Given the description of an element on the screen output the (x, y) to click on. 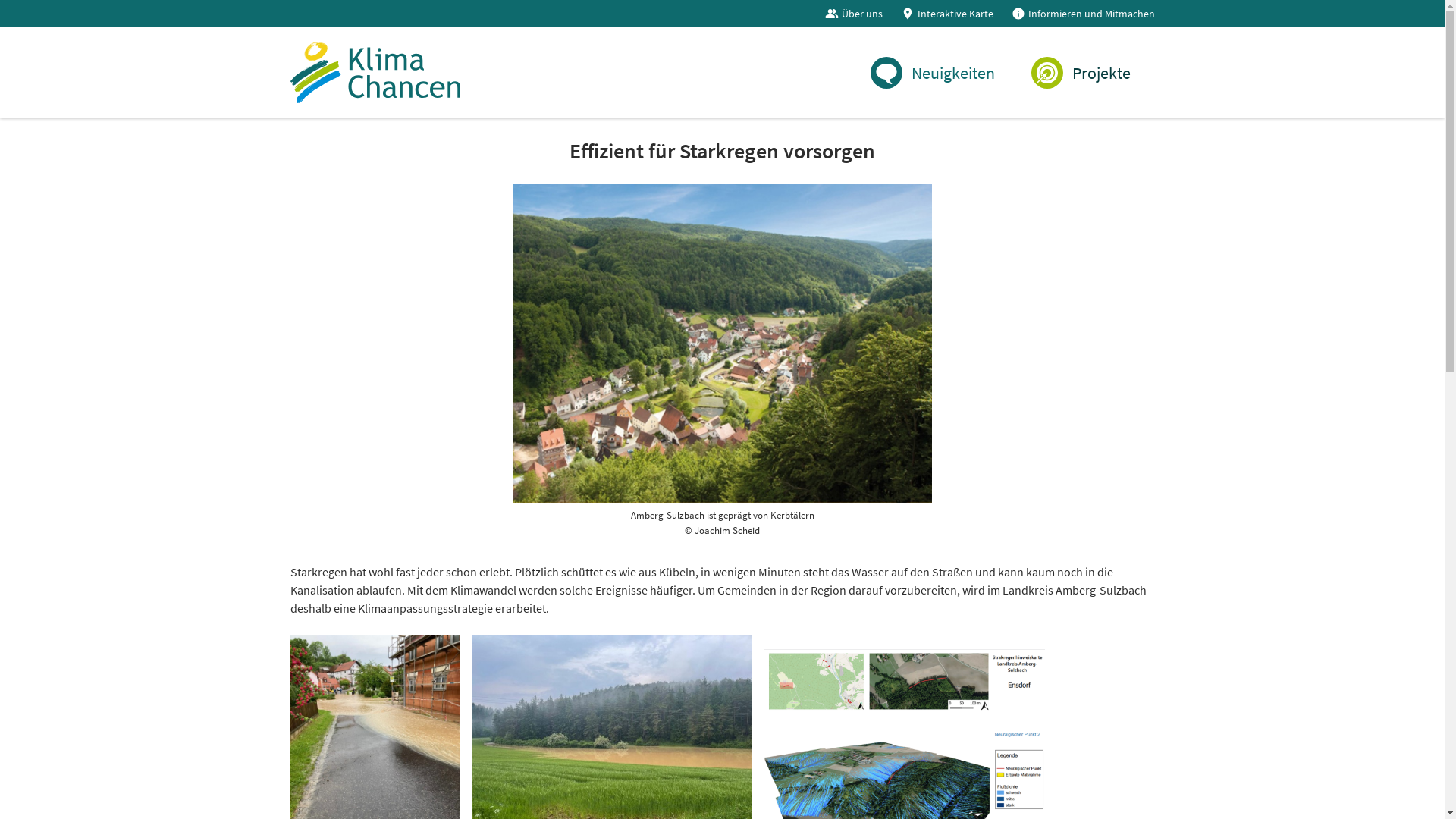
Interaktive Karte Element type: text (946, 13)
Projekte Element type: text (1080, 72)
Neuigkeiten Element type: text (932, 72)
Informieren und Mitmachen Element type: text (1082, 13)
